Given the description of an element on the screen output the (x, y) to click on. 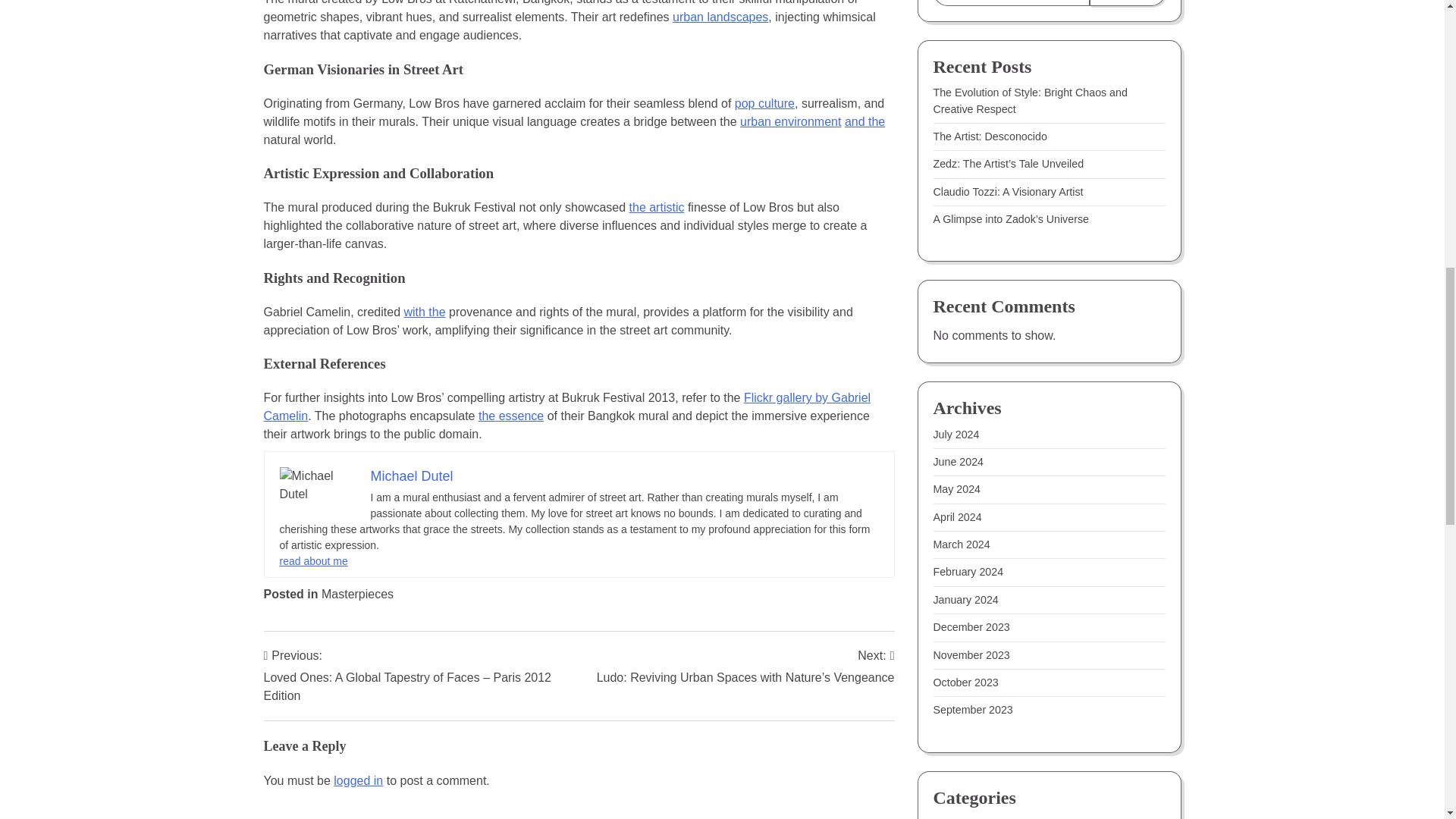
Masterpieces (357, 594)
Flickr gallery by Gabriel Camelin (566, 406)
the artistic (656, 206)
Michael Dutel (410, 476)
pop culture (764, 103)
Low Bros: German Mural Virtuosos 1 (317, 484)
with the (424, 311)
read about me (313, 561)
logged in (357, 780)
urban landscapes (720, 16)
